Given the description of an element on the screen output the (x, y) to click on. 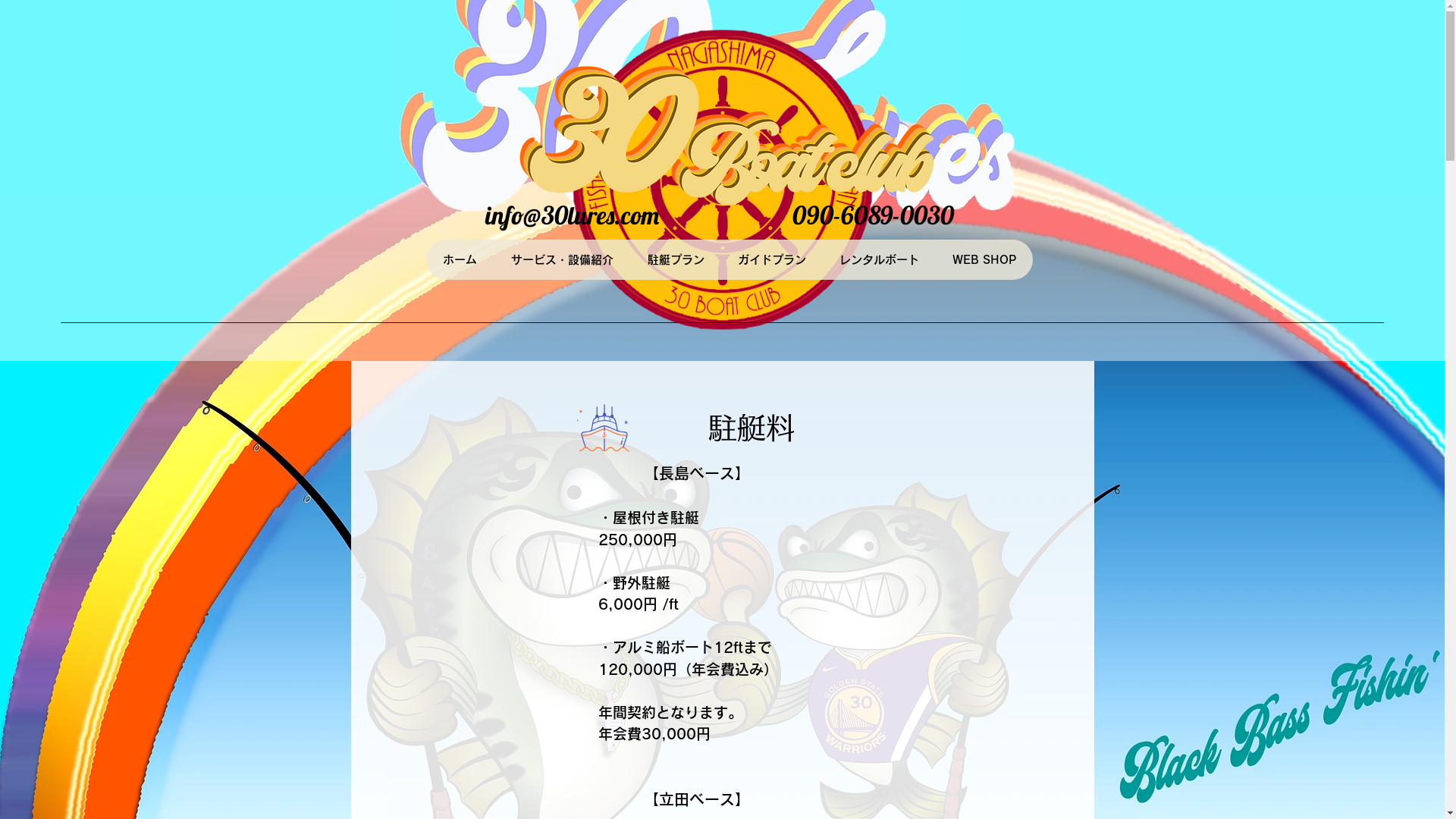
info@30lures.com Element type: text (571, 214)
WEB SHOP Element type: text (983, 259)
